Given the description of an element on the screen output the (x, y) to click on. 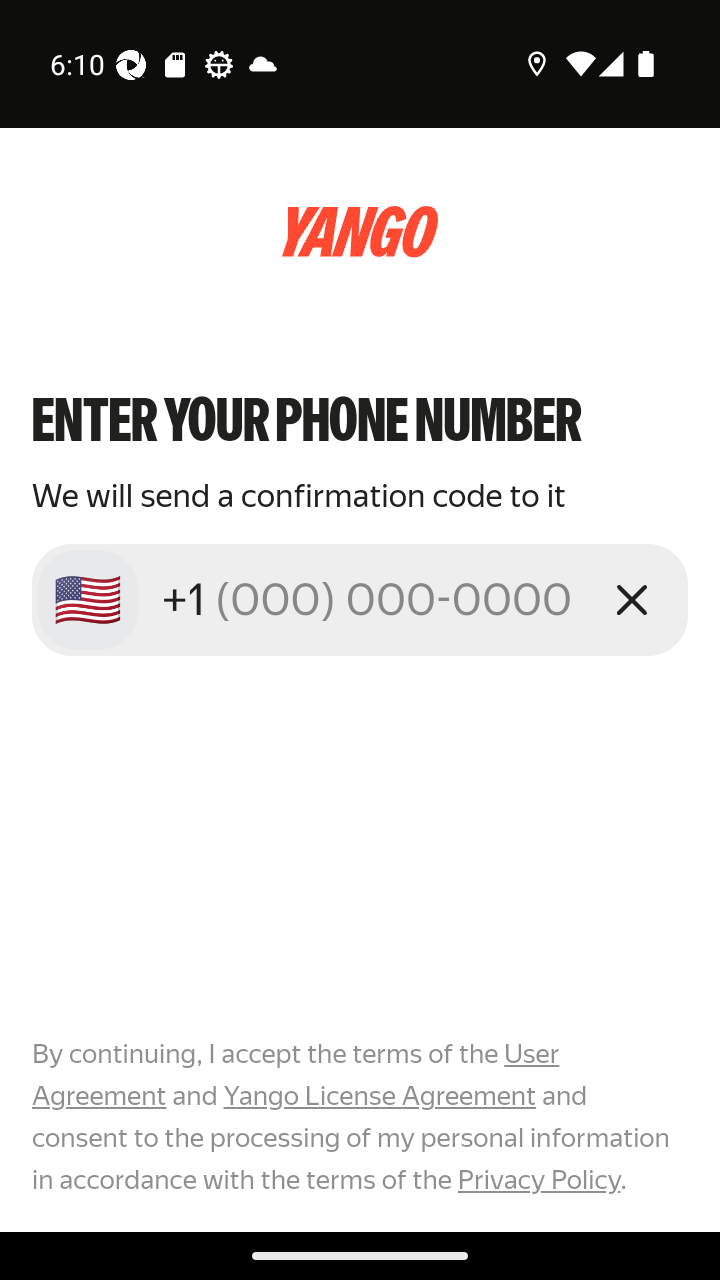
logo (359, 231)
🇺🇸 (88, 600)
+1 (372, 599)
User Agreement (295, 1075)
Yango License Agreement (379, 1096)
Privacy Policy (538, 1179)
